Given the description of an element on the screen output the (x, y) to click on. 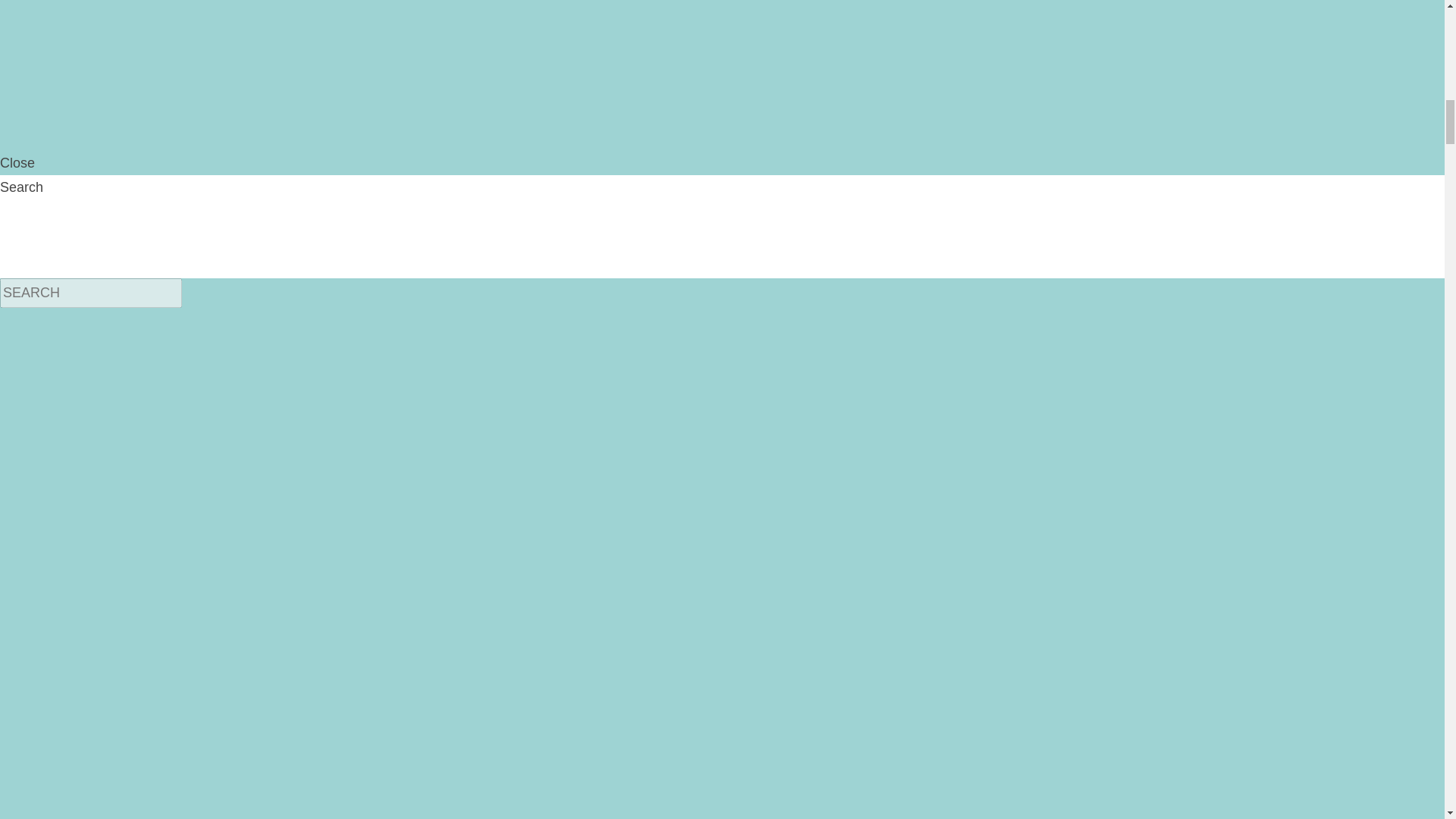
Search (91, 292)
